Given the description of an element on the screen output the (x, y) to click on. 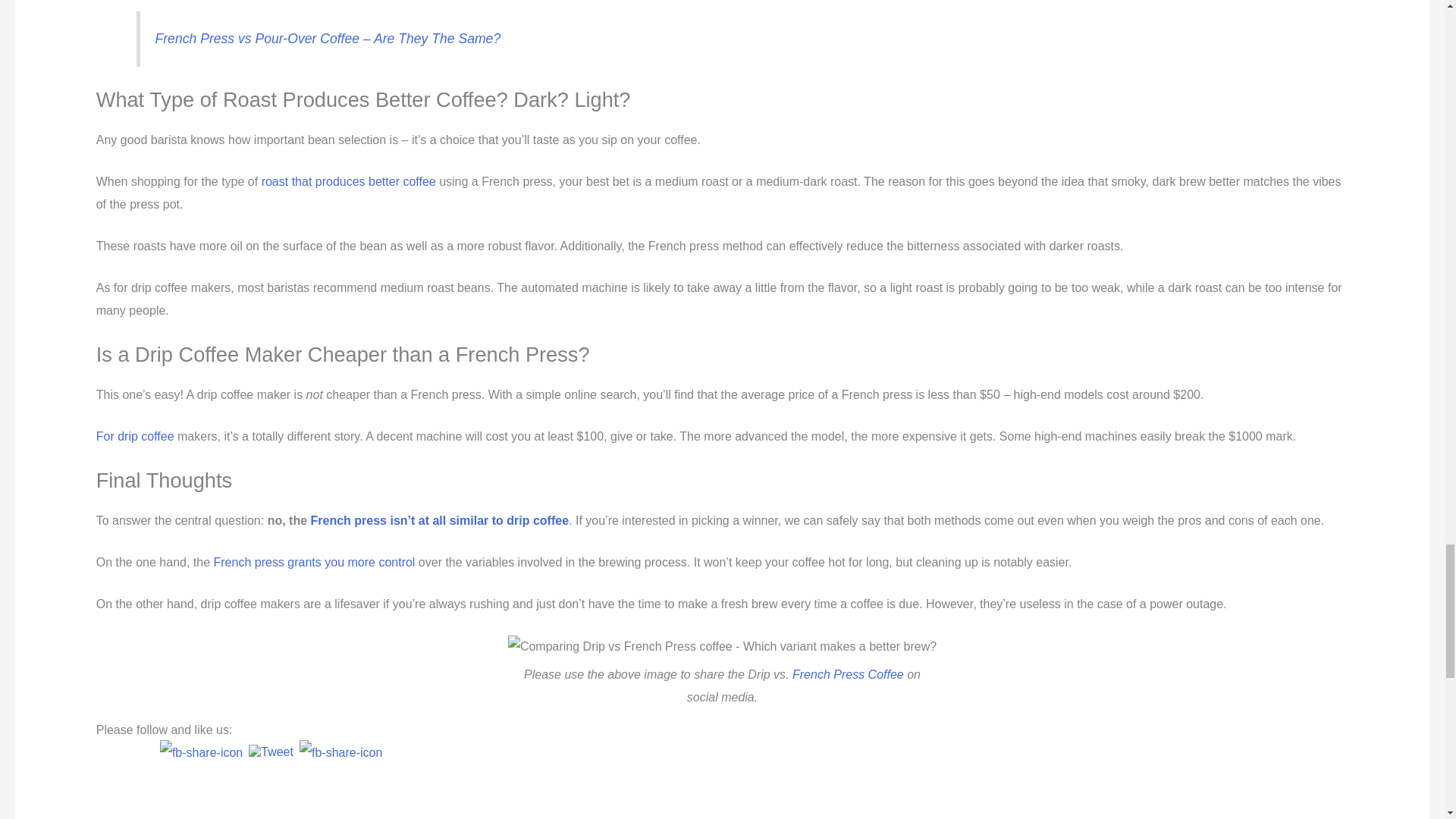
Pin Share (340, 752)
Facebook Share (201, 752)
Tweet (271, 752)
